Given the description of an element on the screen output the (x, y) to click on. 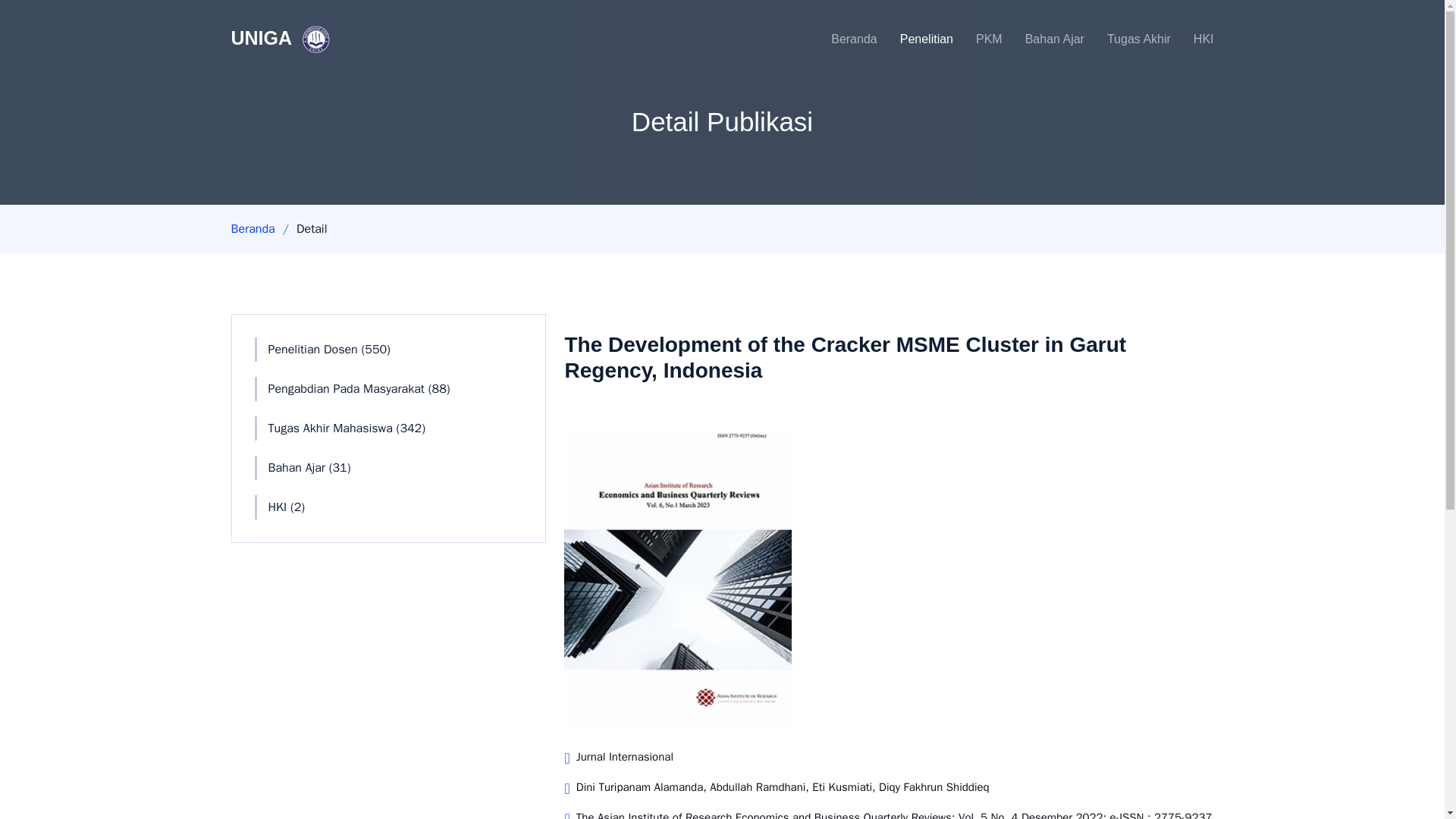
Bahan Ajar (1043, 39)
Penelitian (915, 39)
HKI (1192, 39)
Beranda (842, 39)
Beranda (252, 228)
Tugas Akhir (1127, 39)
UNIGA   (282, 39)
PKM (978, 39)
